Given the description of an element on the screen output the (x, y) to click on. 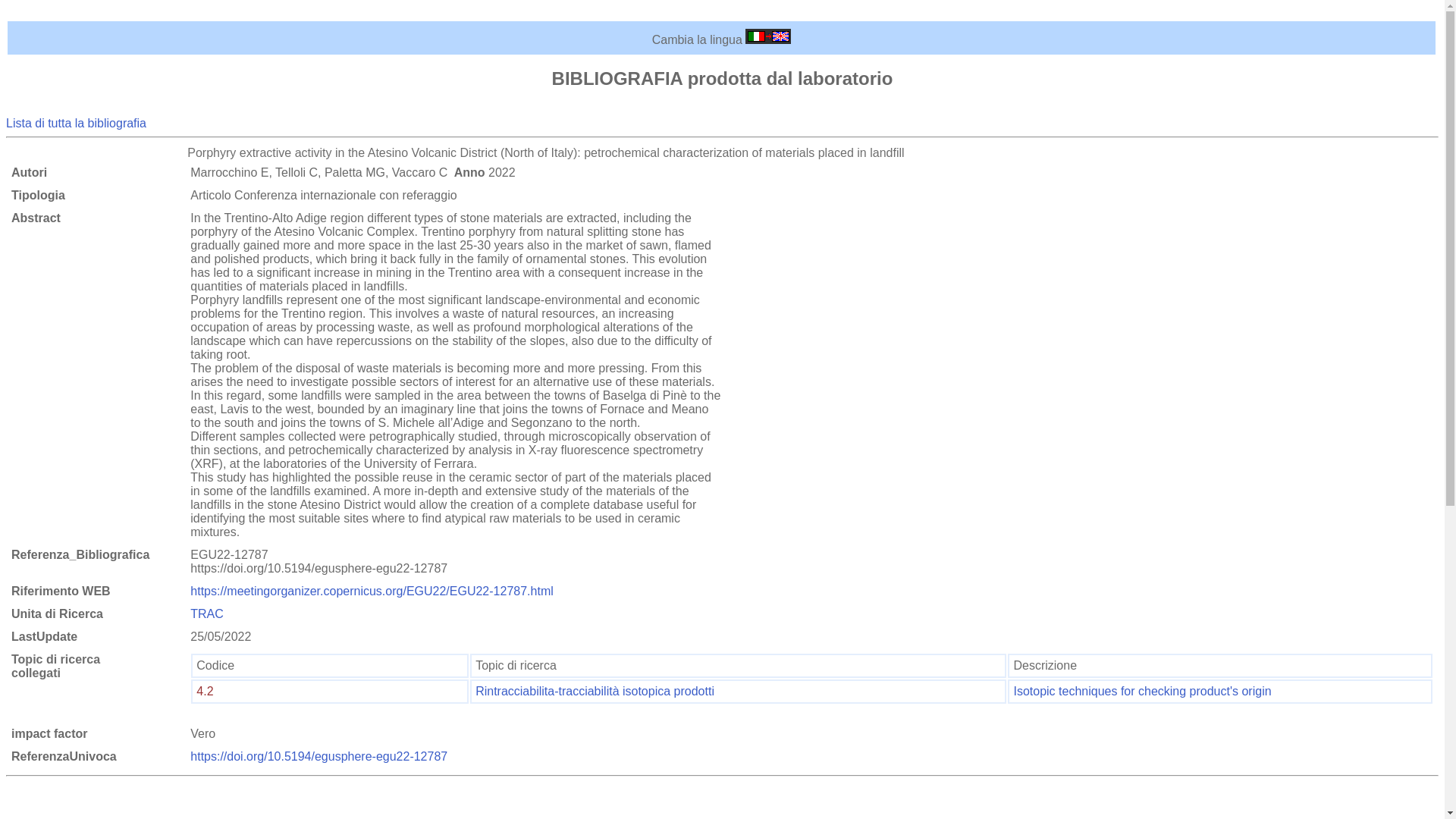
Bibliografia (76, 123)
4.2 (204, 690)
Click per ZOOM della riga (595, 690)
Lista di tutta la bibliografia (76, 123)
Isotopic techniques for checking product's origin (1142, 690)
Click per ZOOM della riga (1142, 690)
Cambia la lingua (767, 39)
TRAC (207, 613)
Vai al contenuto (49, 11)
Click per ZOOM della riga (204, 690)
